Given the description of an element on the screen output the (x, y) to click on. 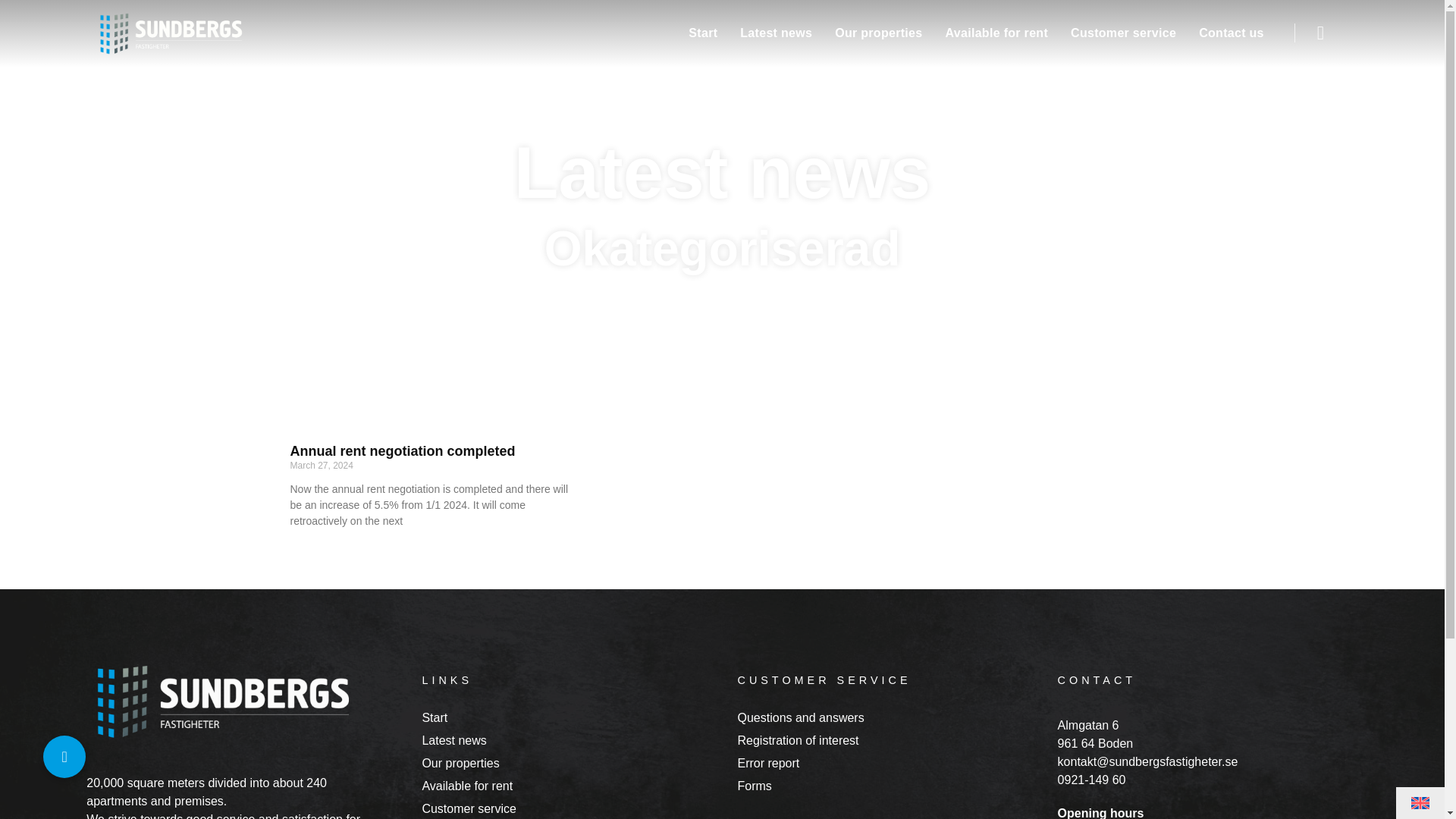
Latest news (776, 33)
Annual rent negotiation completed (402, 450)
Available for rent (572, 784)
Error report (887, 761)
Start (572, 715)
Latest news (572, 738)
Our properties (878, 33)
Start (703, 33)
Customer service (572, 806)
Contact us (1231, 33)
Questions and answers (887, 715)
Customer service (1123, 33)
Forms (887, 784)
Available for rent (996, 33)
